Given the description of an element on the screen output the (x, y) to click on. 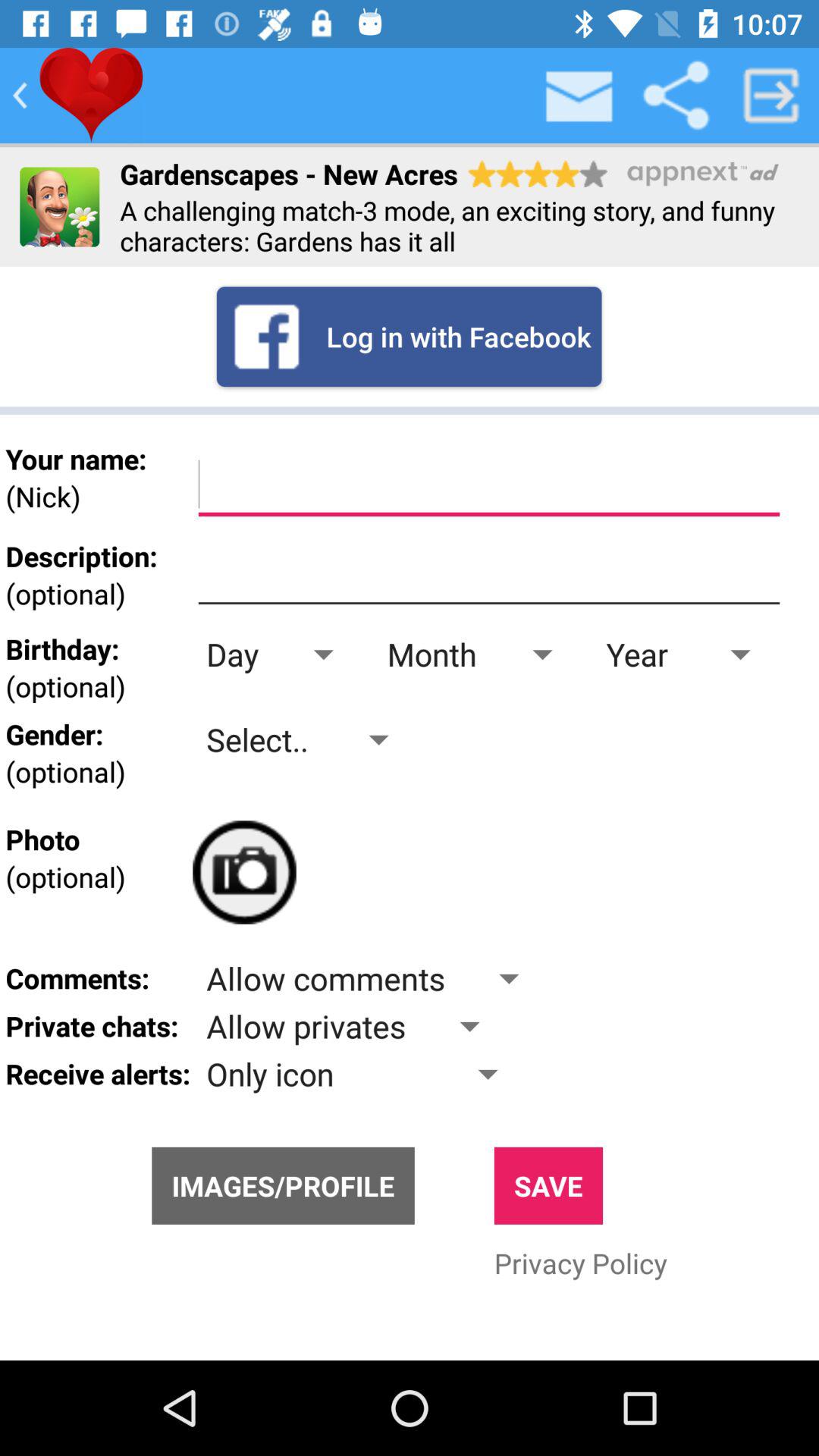
share the article (675, 95)
